Given the description of an element on the screen output the (x, y) to click on. 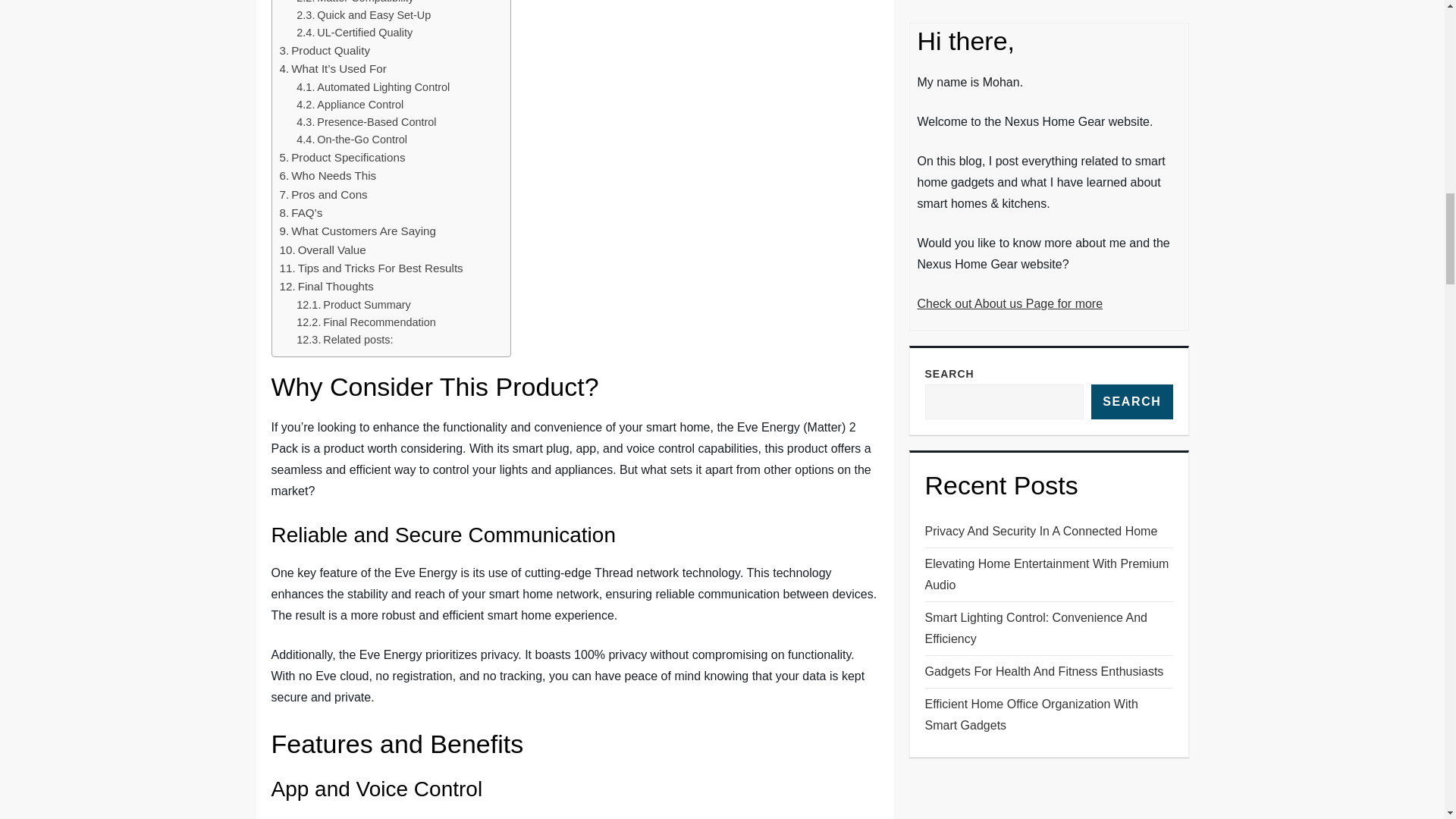
Product Quality (324, 50)
On-the-Go Control (352, 139)
Matter Compatibility (355, 3)
What Customers Are Saying (357, 230)
Quick and Easy Set-Up (363, 15)
On-the-Go Control (352, 139)
Presence-Based Control (366, 122)
Presence-Based Control (366, 122)
Tips and Tricks For Best Results (371, 268)
Related posts: (345, 339)
Product Specifications (341, 157)
UL-Certified Quality (354, 32)
Final Recommendation (366, 322)
Who Needs This (327, 176)
Final Thoughts (325, 286)
